Given the description of an element on the screen output the (x, y) to click on. 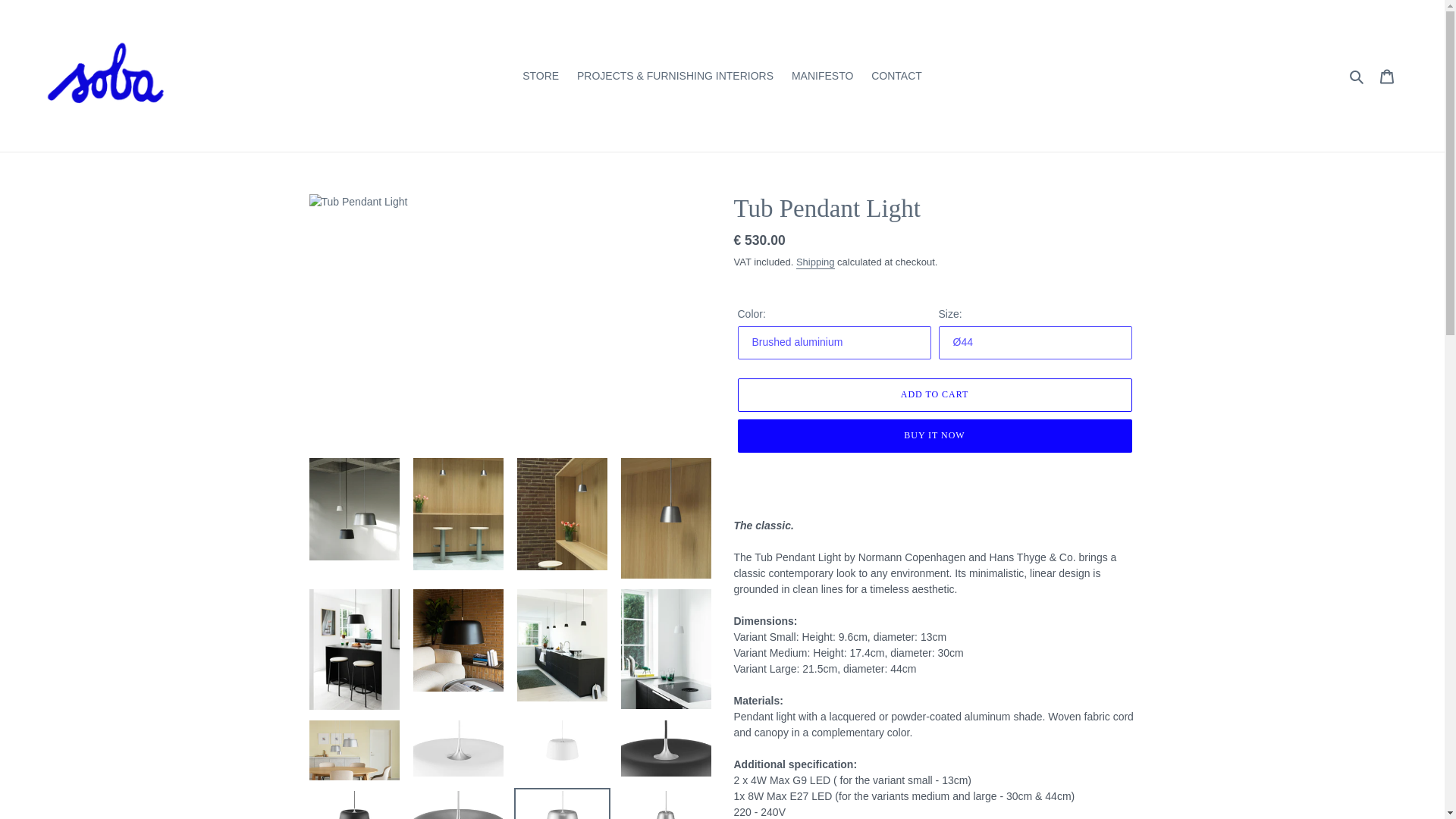
MANIFESTO (822, 75)
CONTACT (896, 75)
Cart (1387, 74)
Search (1357, 75)
STORE (540, 75)
